Given the description of an element on the screen output the (x, y) to click on. 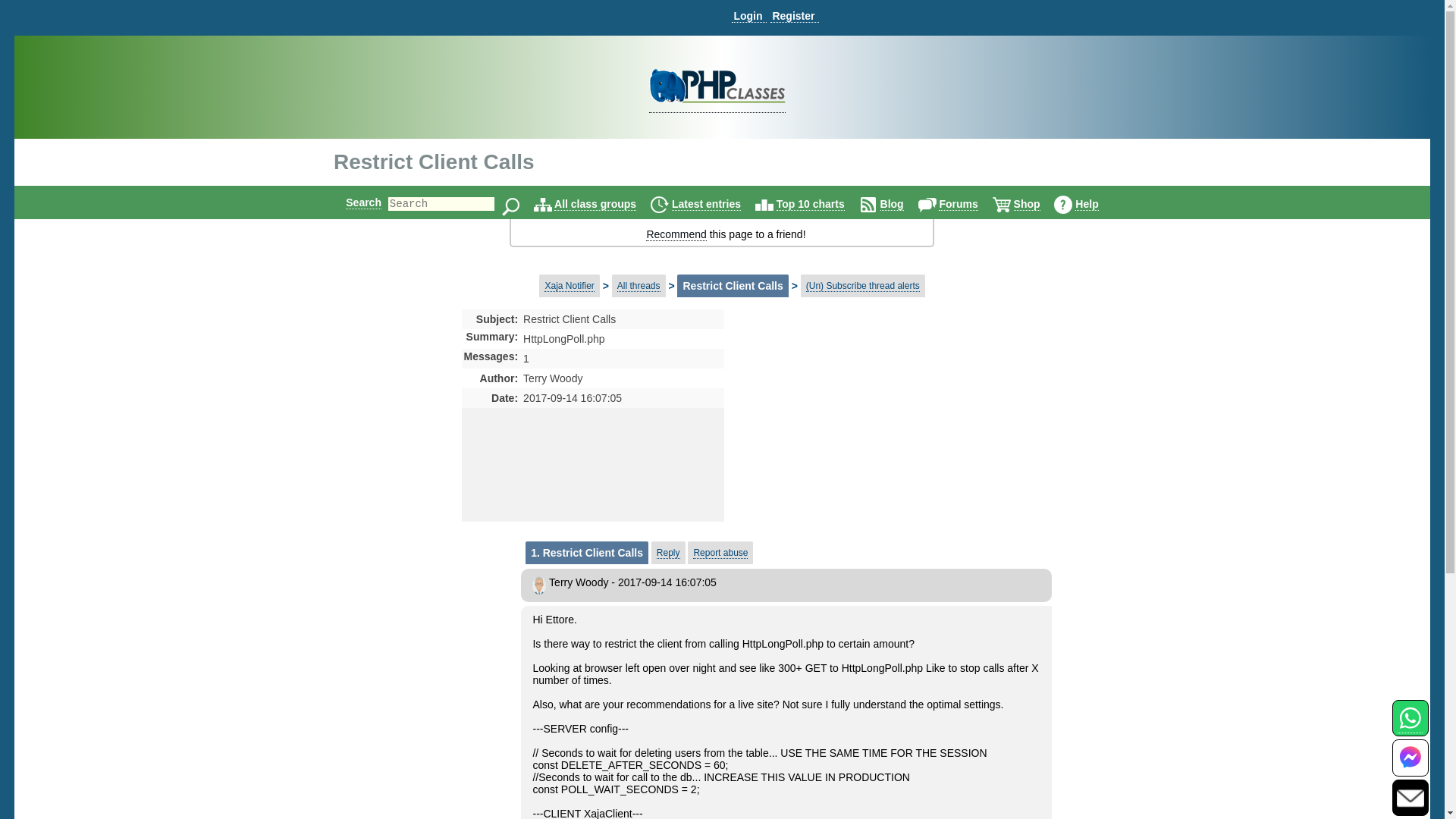
Xaja Notifier (569, 285)
Contact us using Messenger (1409, 766)
Top 10 charts (810, 204)
All class groups (595, 204)
Forums (957, 204)
Recommend (676, 234)
Help (1086, 204)
Register (794, 15)
Blog (892, 204)
Contact us using email (1409, 797)
Login (748, 15)
Contact us using WhatsApp (1409, 726)
Shop (1027, 204)
Report abuse (720, 552)
Reply (667, 552)
